Given the description of an element on the screen output the (x, y) to click on. 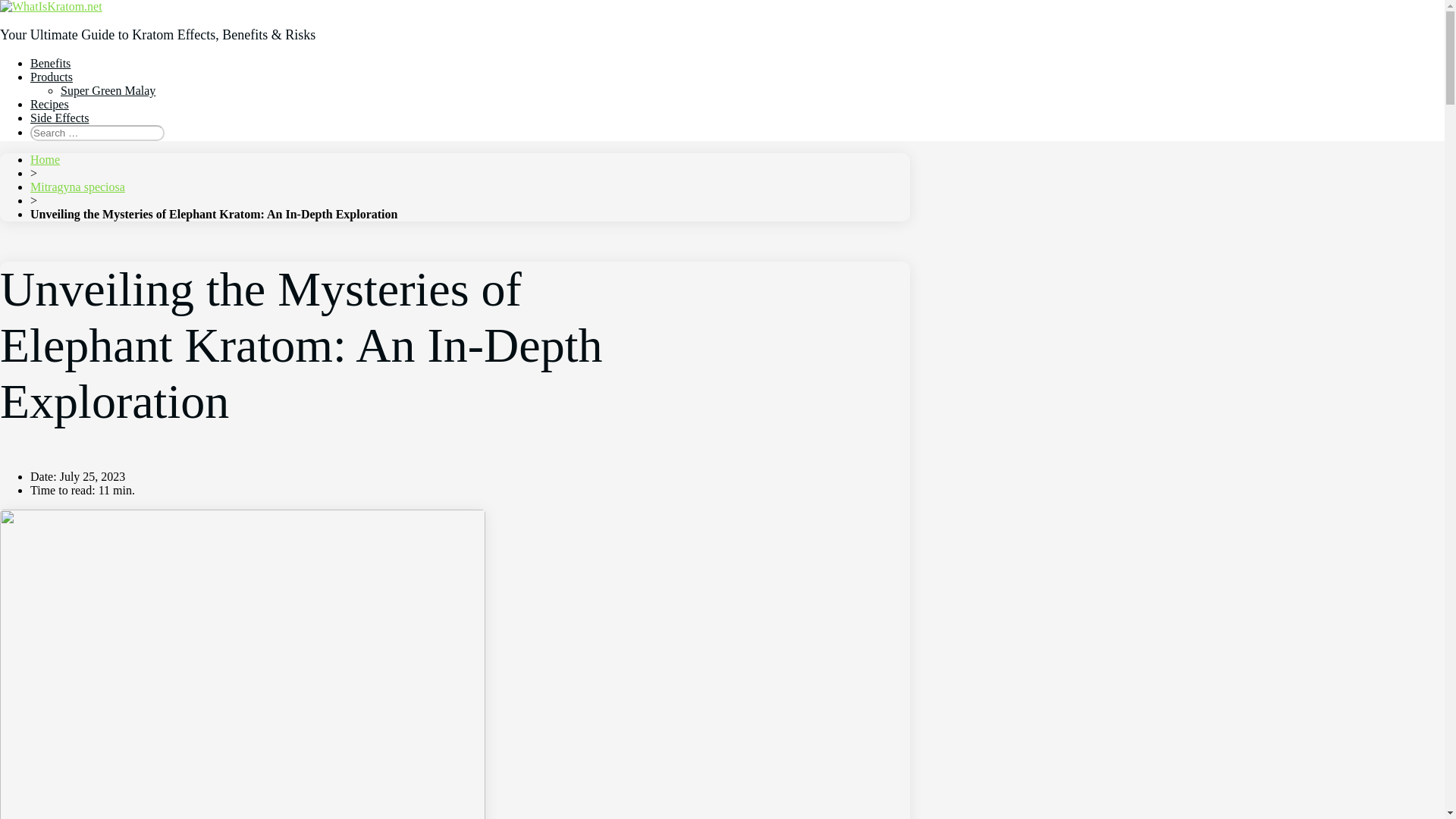
Products (51, 76)
Side Effects (59, 117)
Mitragyna speciosa (77, 186)
Benefits (49, 62)
Search for: (97, 132)
Recipes (49, 103)
Home (44, 159)
Super Green Malay (108, 90)
Home (44, 159)
